Given the description of an element on the screen output the (x, y) to click on. 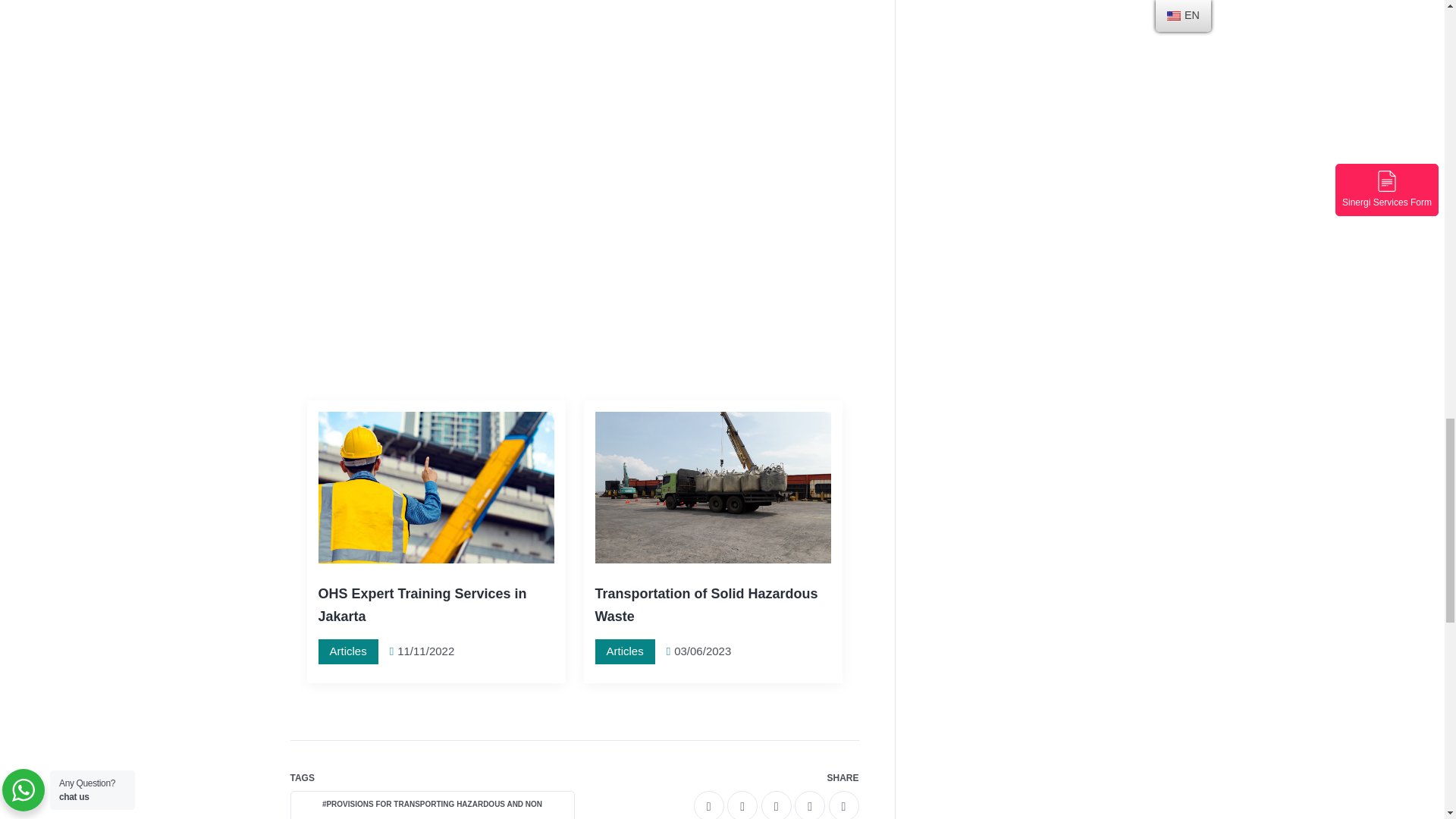
twitter (741, 804)
telegram (809, 804)
whatsapp (776, 804)
facebook (708, 804)
skype (843, 804)
